Given the description of an element on the screen output the (x, y) to click on. 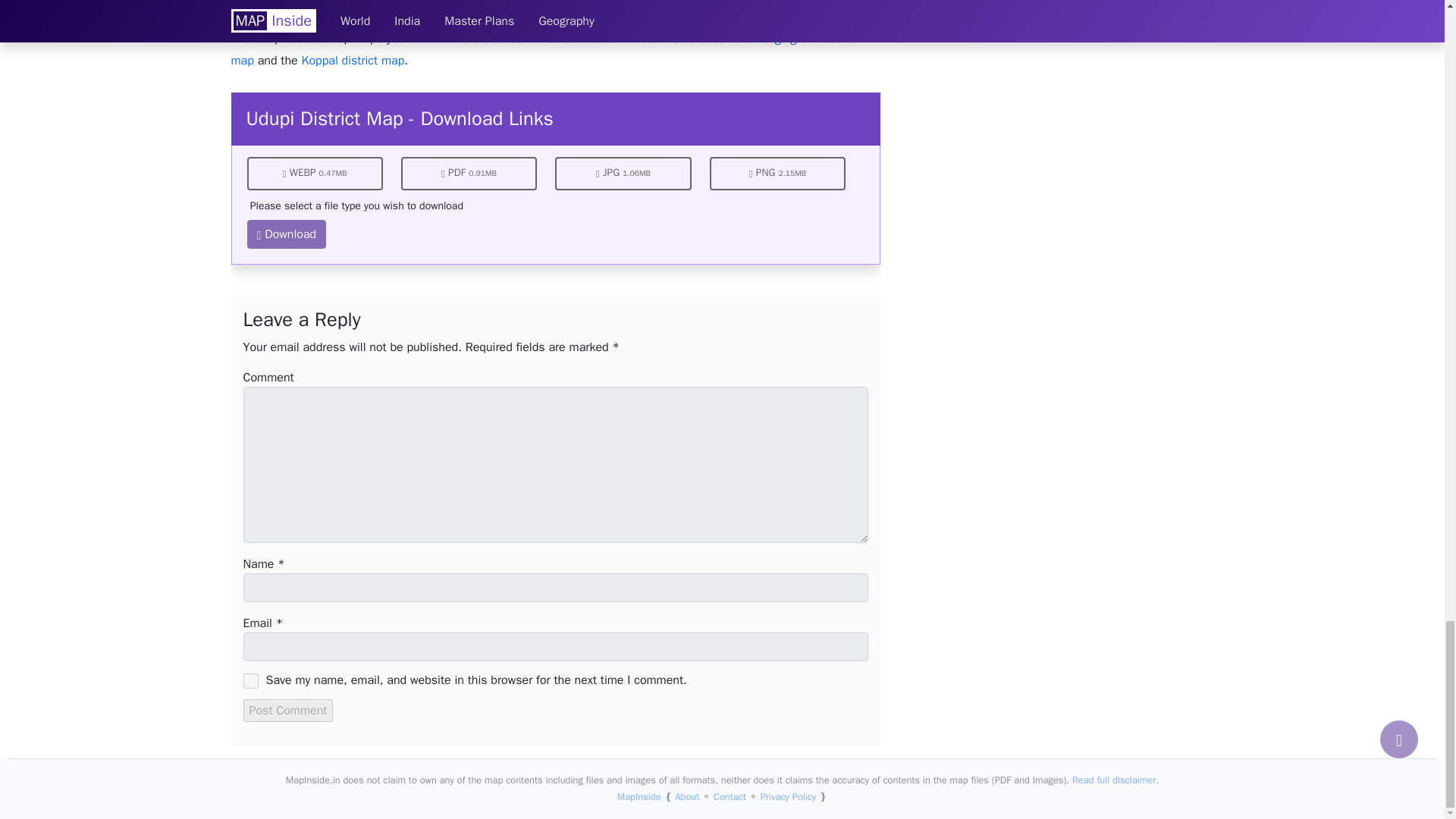
Koppal district map (352, 60)
Post Comment (288, 710)
Privacy Policy (788, 797)
yes (250, 680)
Post Comment (288, 710)
Download (286, 234)
Contact (729, 797)
Bongaigaon district map (543, 49)
Read full disclaimer. (1114, 779)
About (686, 797)
